Given the description of an element on the screen output the (x, y) to click on. 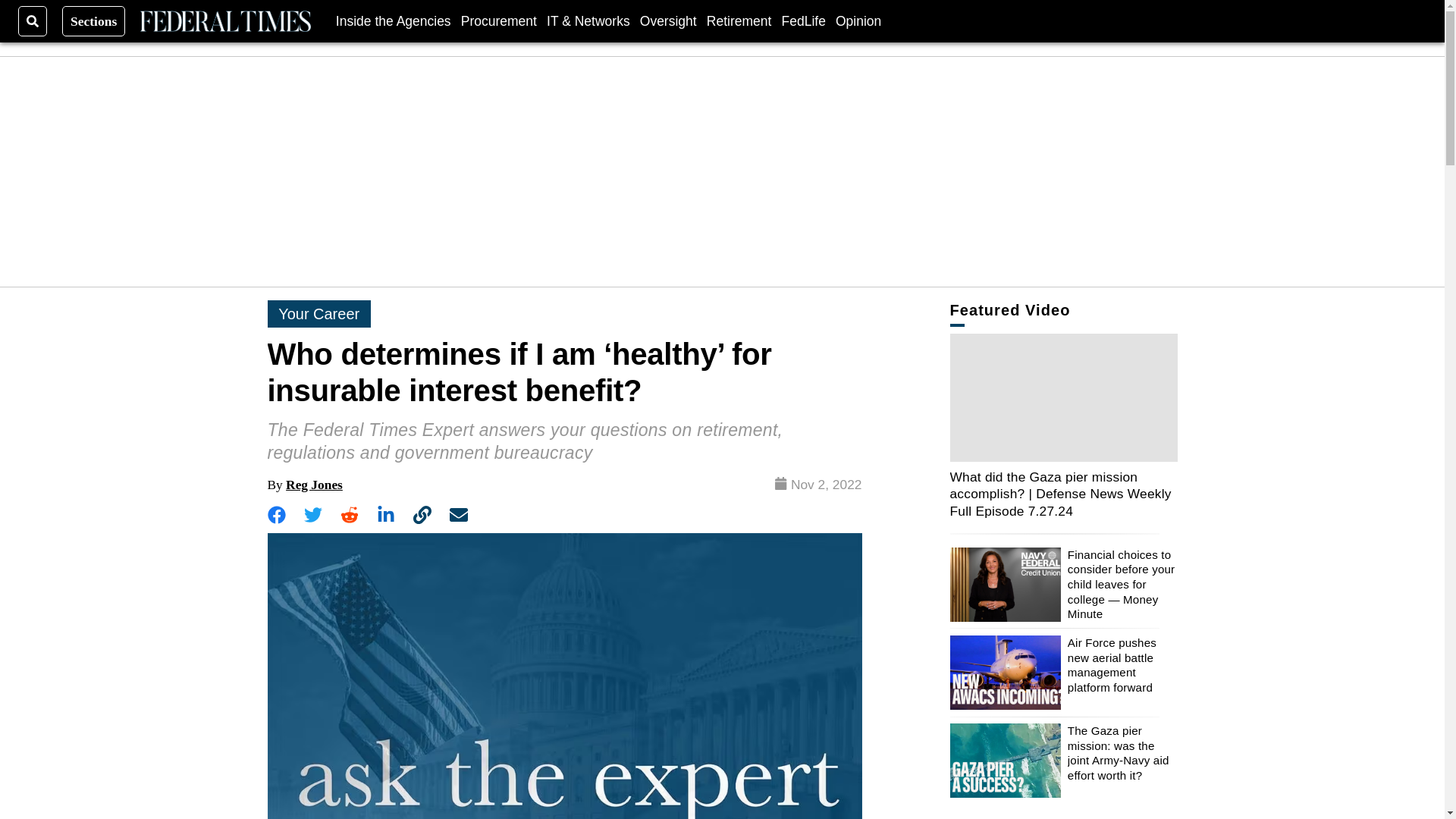
FedLife (802, 20)
Sections (93, 20)
Oversight (668, 20)
Retirement (738, 20)
Procurement (499, 20)
Federal Times Logo (224, 20)
Opinion (857, 20)
Inside the Agencies (393, 20)
